Given the description of an element on the screen output the (x, y) to click on. 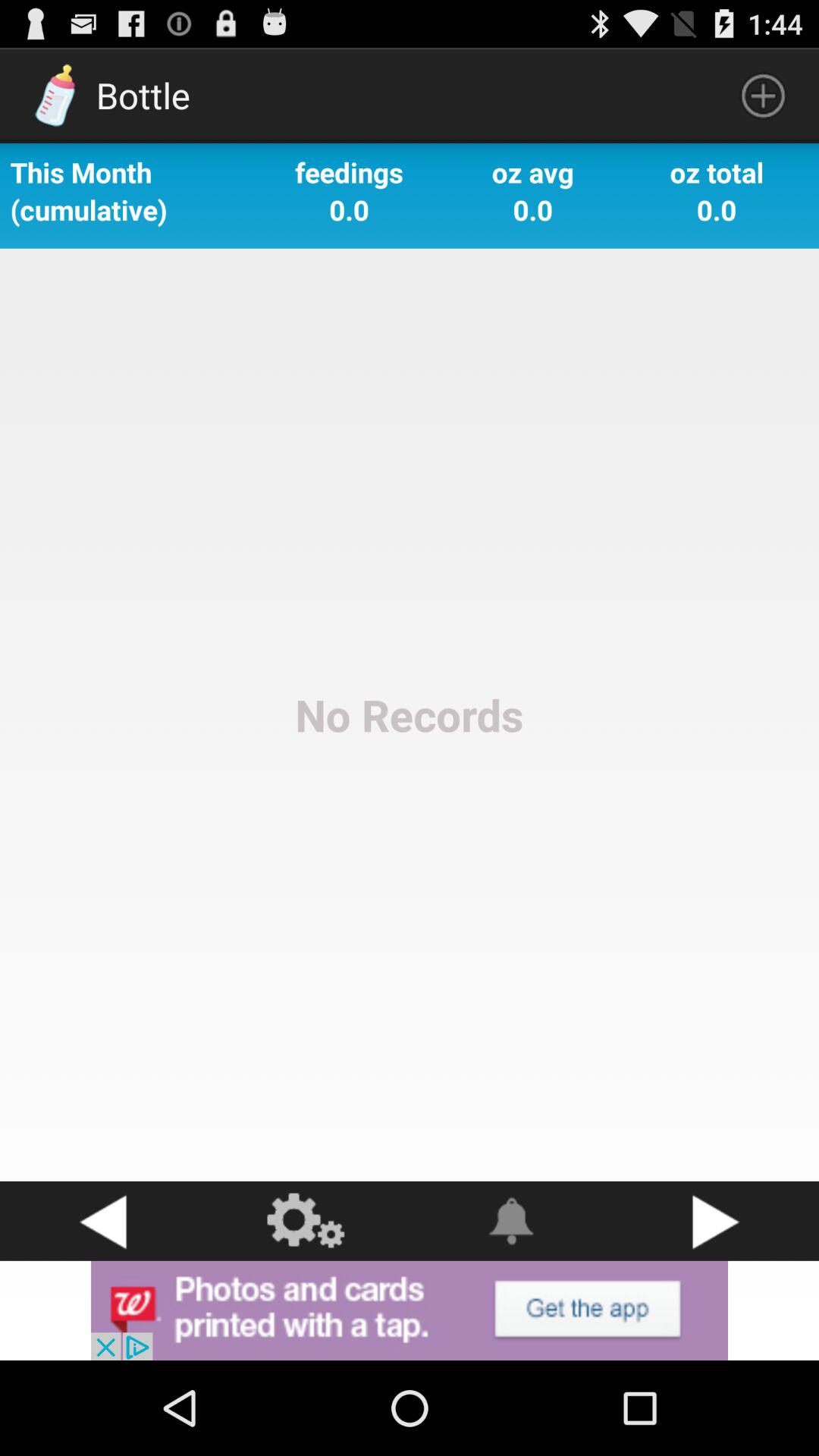
open advertisement (409, 1310)
